Given the description of an element on the screen output the (x, y) to click on. 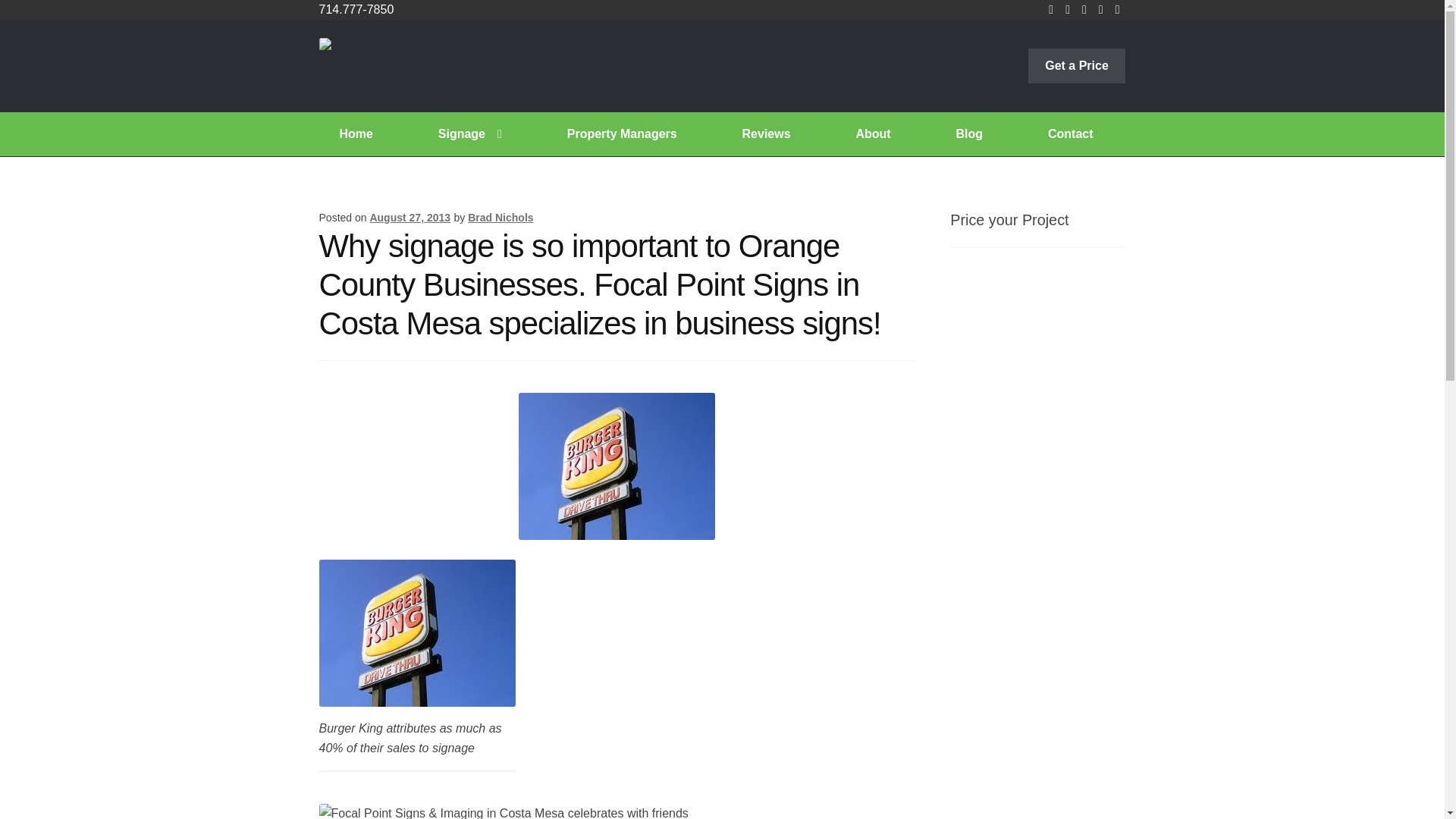
Get a Price (1076, 65)
Reviews (767, 134)
Property Managers (622, 134)
Contact (1069, 134)
Blog (968, 134)
About (873, 134)
714.777-7850 (356, 9)
Home (356, 134)
Signage (470, 134)
